Given the description of an element on the screen output the (x, y) to click on. 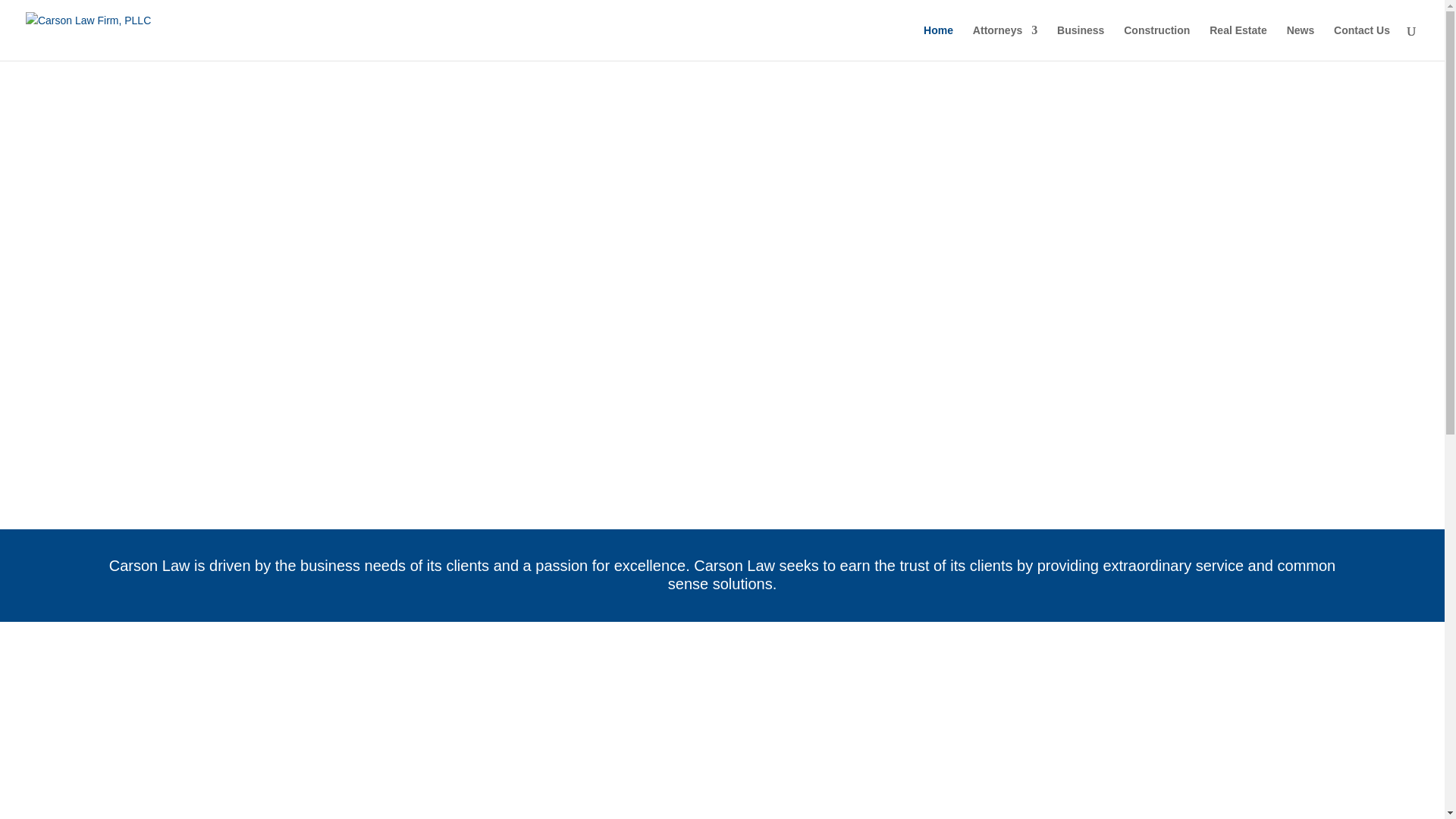
Attorneys (1004, 42)
Business (1080, 42)
Contact Us (1361, 42)
Construction (1156, 42)
Real Estate (1237, 42)
